Given the description of an element on the screen output the (x, y) to click on. 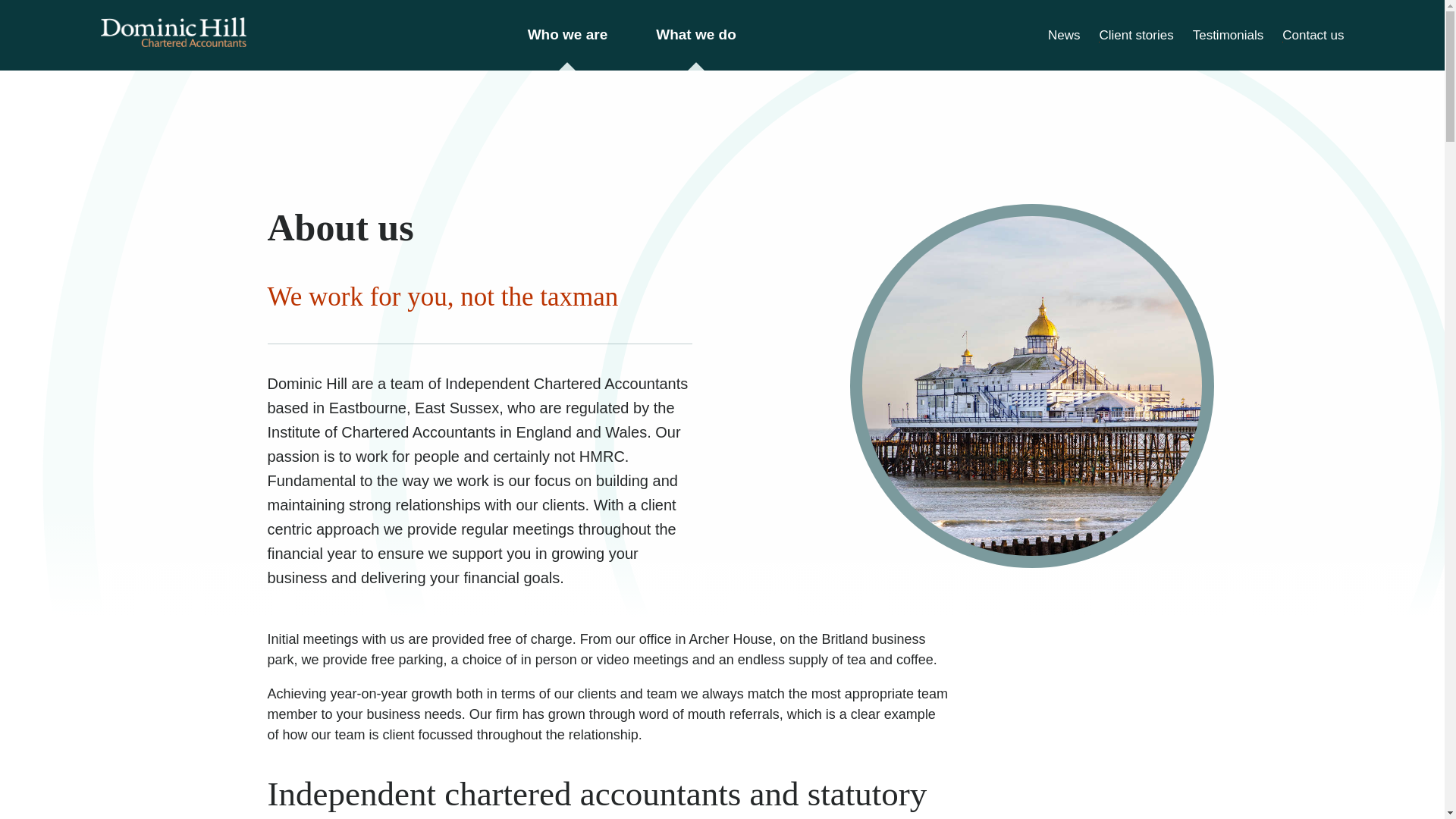
Client stories (1136, 34)
Contact us (1312, 34)
Who we are (567, 35)
News (1064, 34)
Testimonials (1227, 34)
What we do (695, 35)
